Given the description of an element on the screen output the (x, y) to click on. 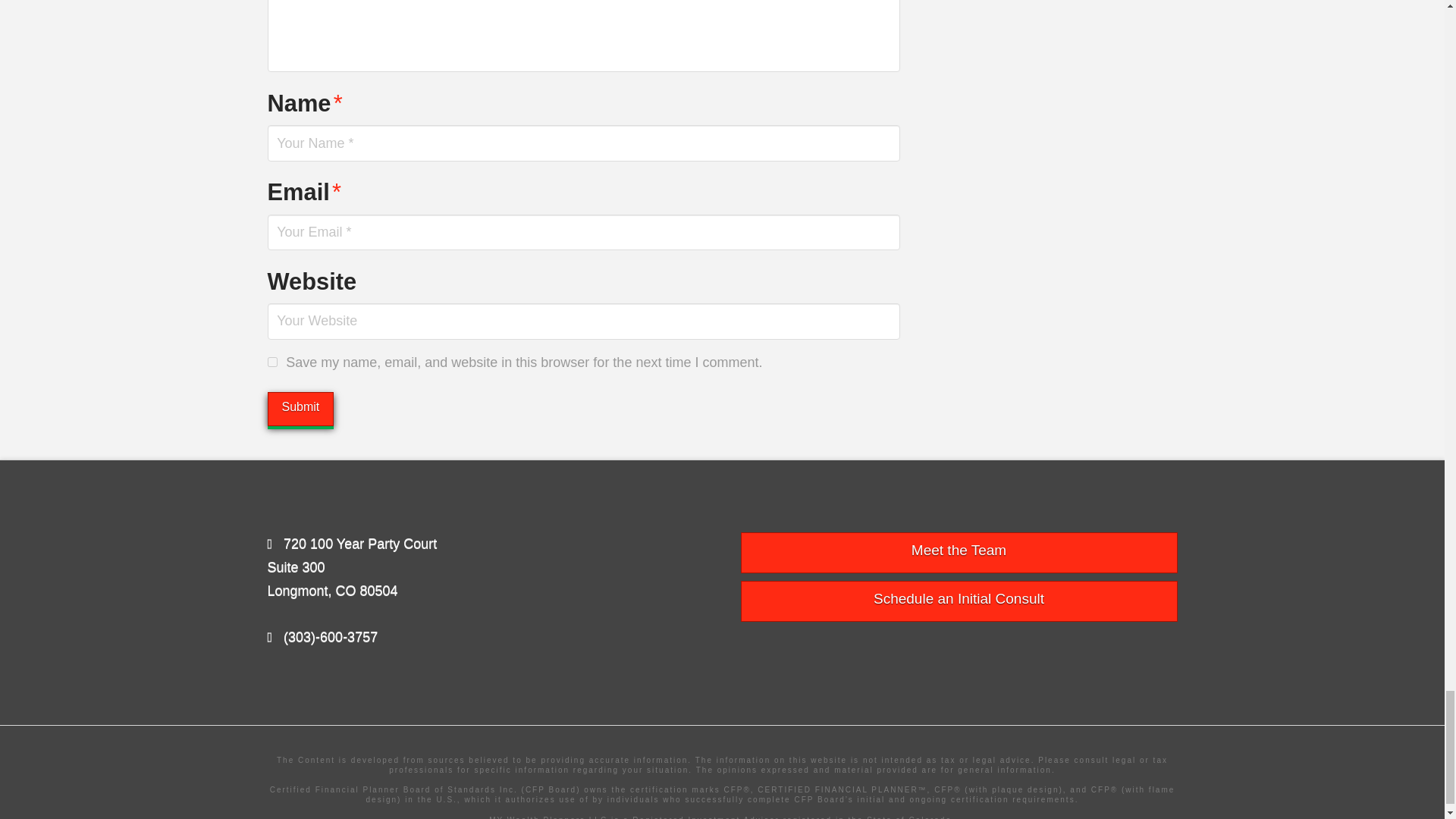
Schedule (957, 600)
yes (271, 361)
Submit (299, 408)
Submit (299, 408)
Meet the Team (957, 552)
